Given the description of an element on the screen output the (x, y) to click on. 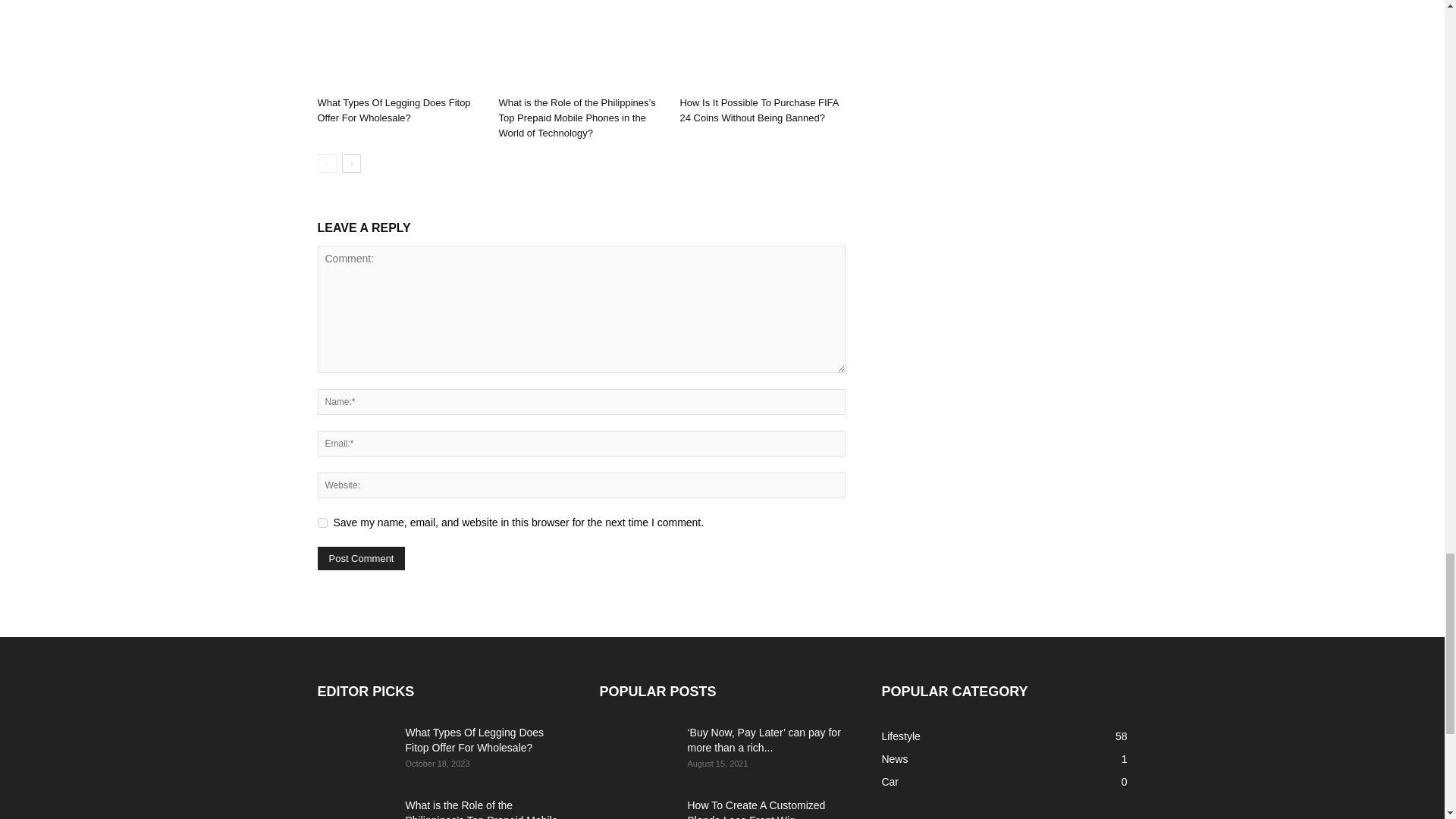
yes (321, 522)
Post Comment (360, 558)
What Types Of Legging Does Fitop Offer For Wholesale? (399, 45)
